Given the description of an element on the screen output the (x, y) to click on. 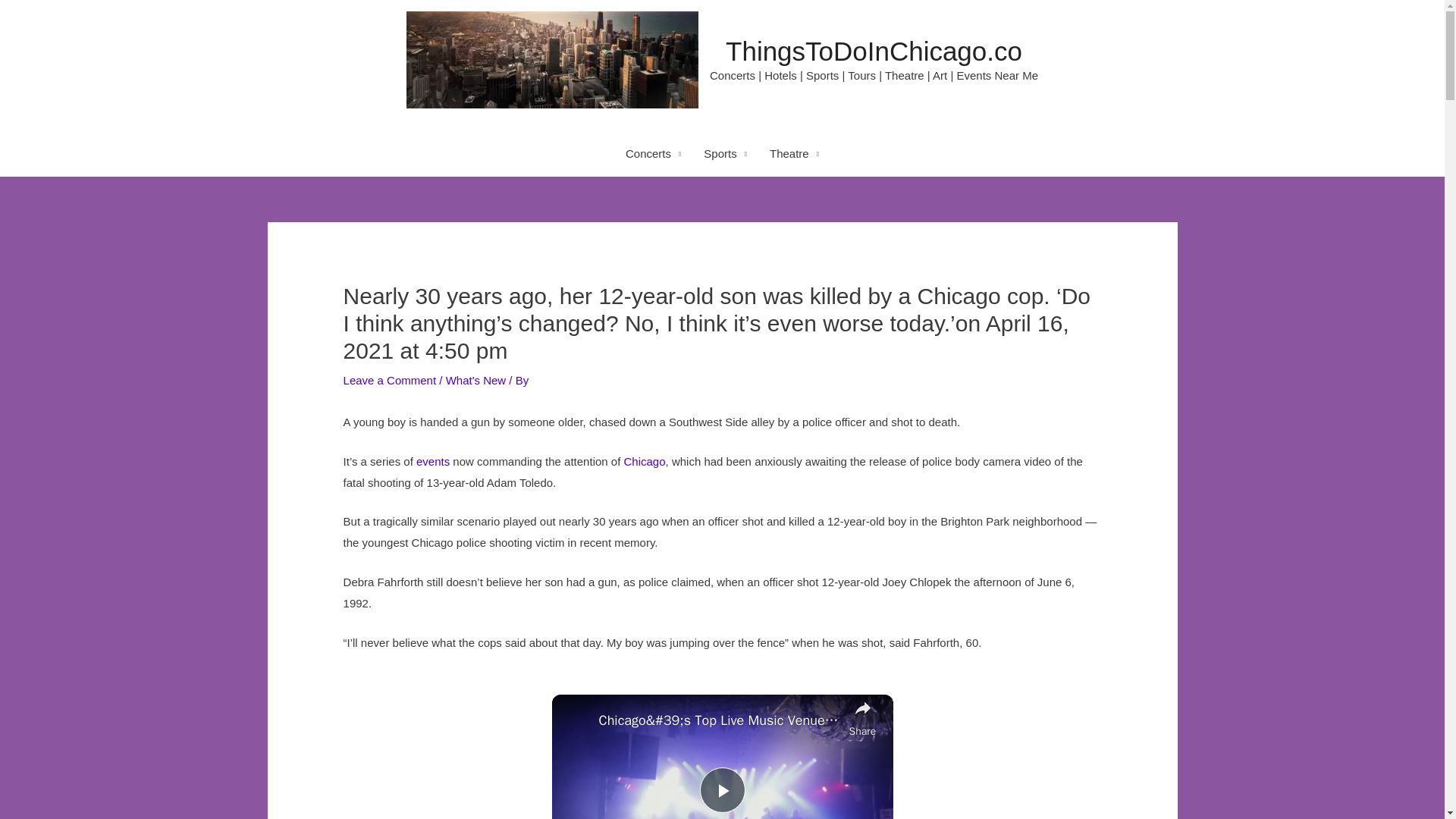
Concerts (653, 153)
Theatre (793, 153)
Play Video (721, 790)
Sports (725, 153)
ThingsToDoInChicago.co (873, 51)
